Given the description of an element on the screen output the (x, y) to click on. 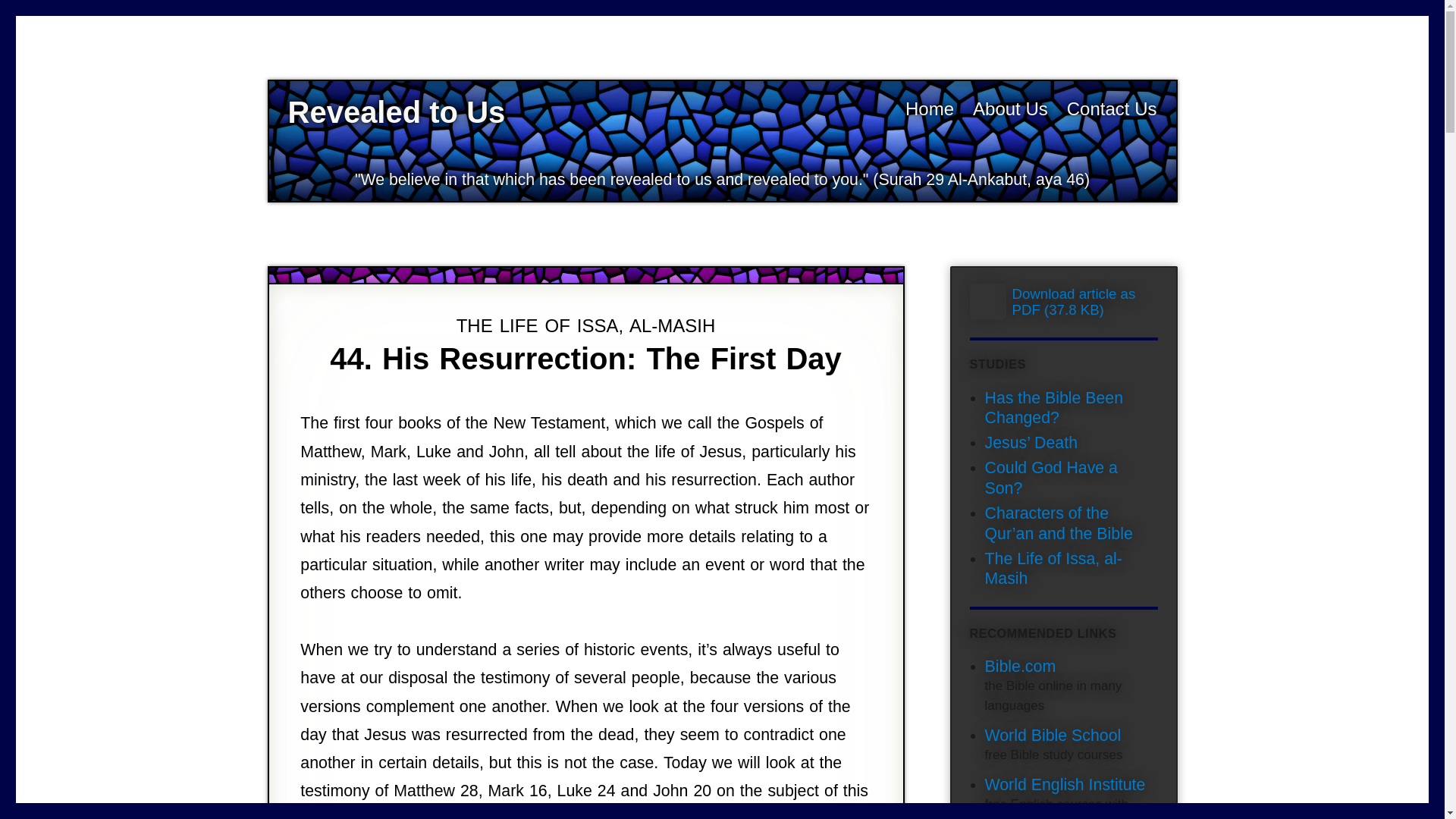
World Bible School (1052, 735)
Could God Have a Son? (1050, 477)
About Us (1010, 108)
The Life of Issa, al-Masih (1052, 568)
Revealed to Us (396, 111)
Acceuil (929, 108)
Contact Us (1112, 108)
World English Institute (1064, 784)
Has the Bible Been Changed? (1053, 408)
Home (929, 108)
Bible.com (1019, 666)
